Given the description of an element on the screen output the (x, y) to click on. 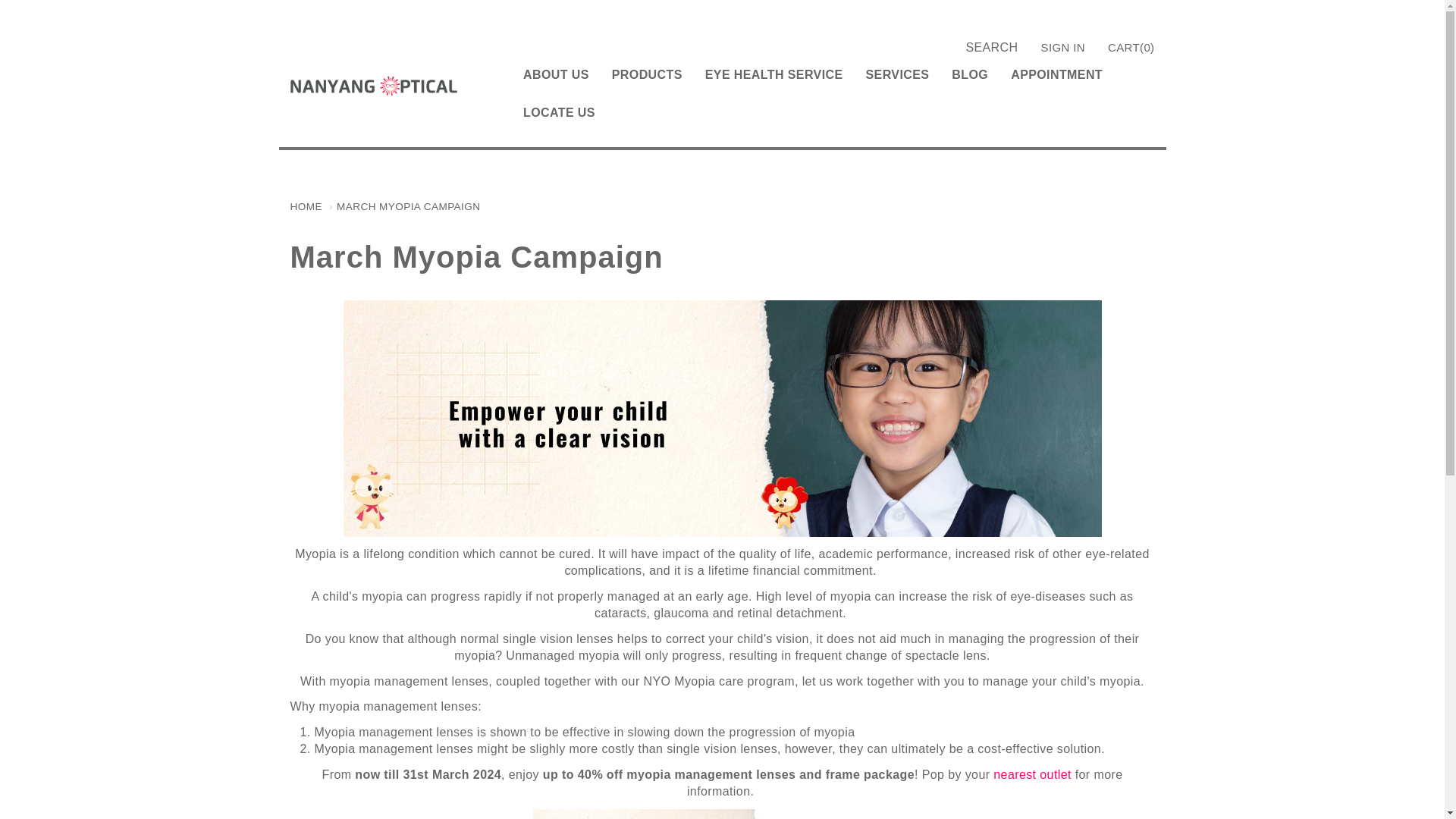
PRODUCTS (646, 75)
nearest outlet (1031, 774)
SEARCH (991, 47)
ABOUT US (555, 75)
APPOINTMENT (1056, 75)
EYE HEALTH SERVICE (773, 75)
HOME (305, 206)
LOCATE US (558, 112)
Home (373, 83)
SIGN IN (1068, 47)
